Given the description of an element on the screen output the (x, y) to click on. 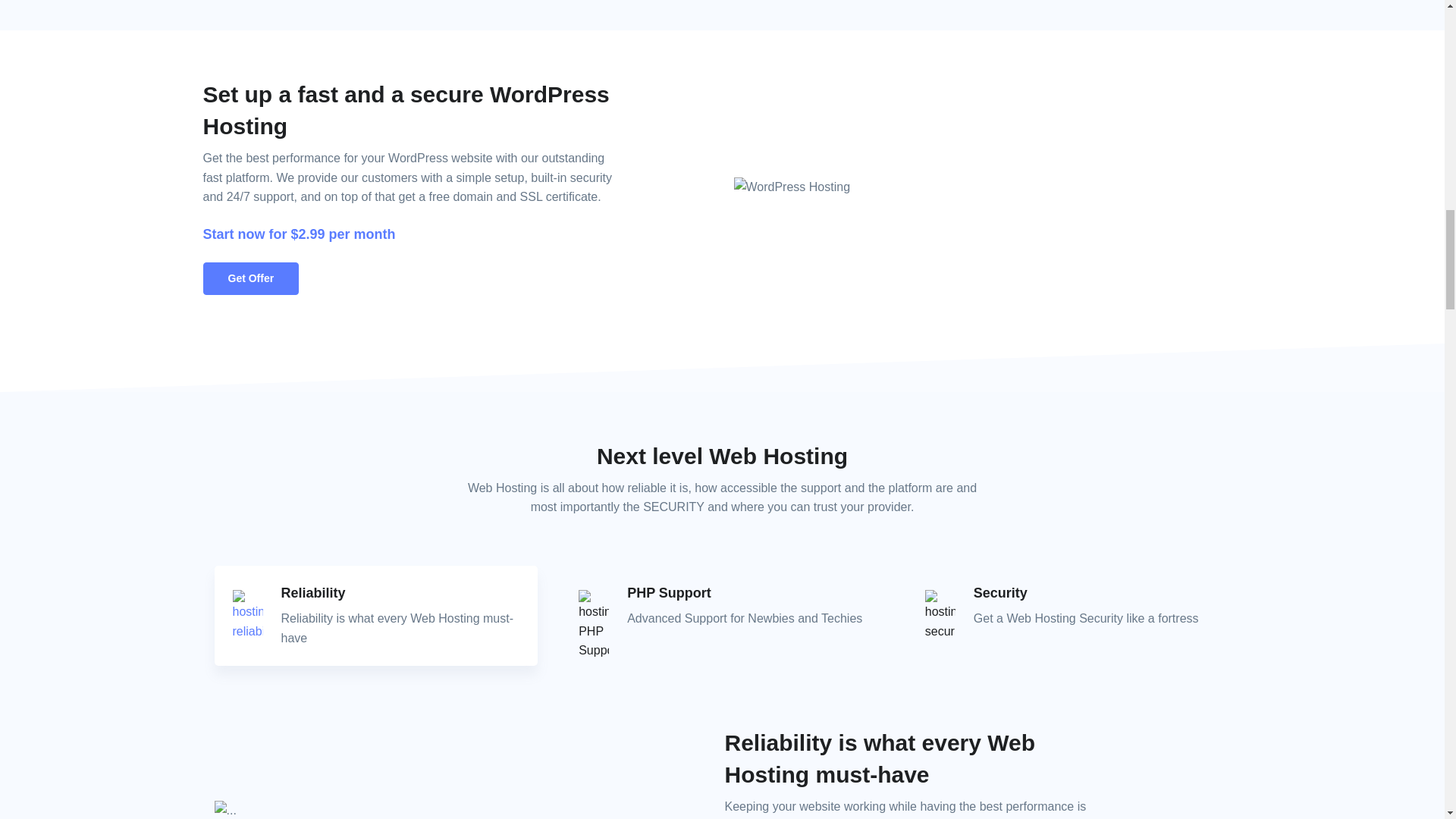
Get Offer (251, 278)
